Given the description of an element on the screen output the (x, y) to click on. 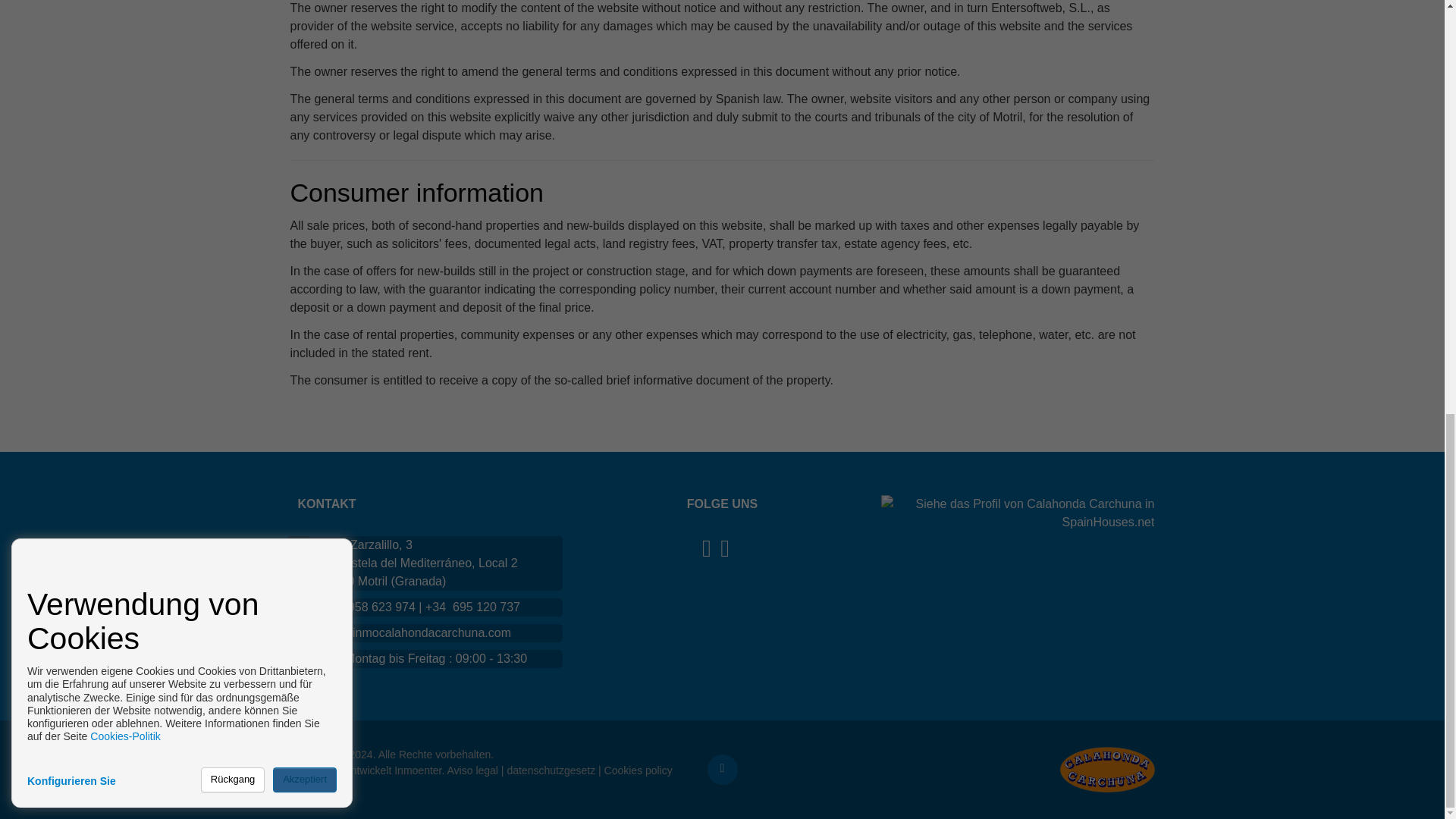
Inmoenter (417, 770)
Siehe das Profil von Calahonda Carchuna in SpainHouses.net (1017, 512)
